Given the description of an element on the screen output the (x, y) to click on. 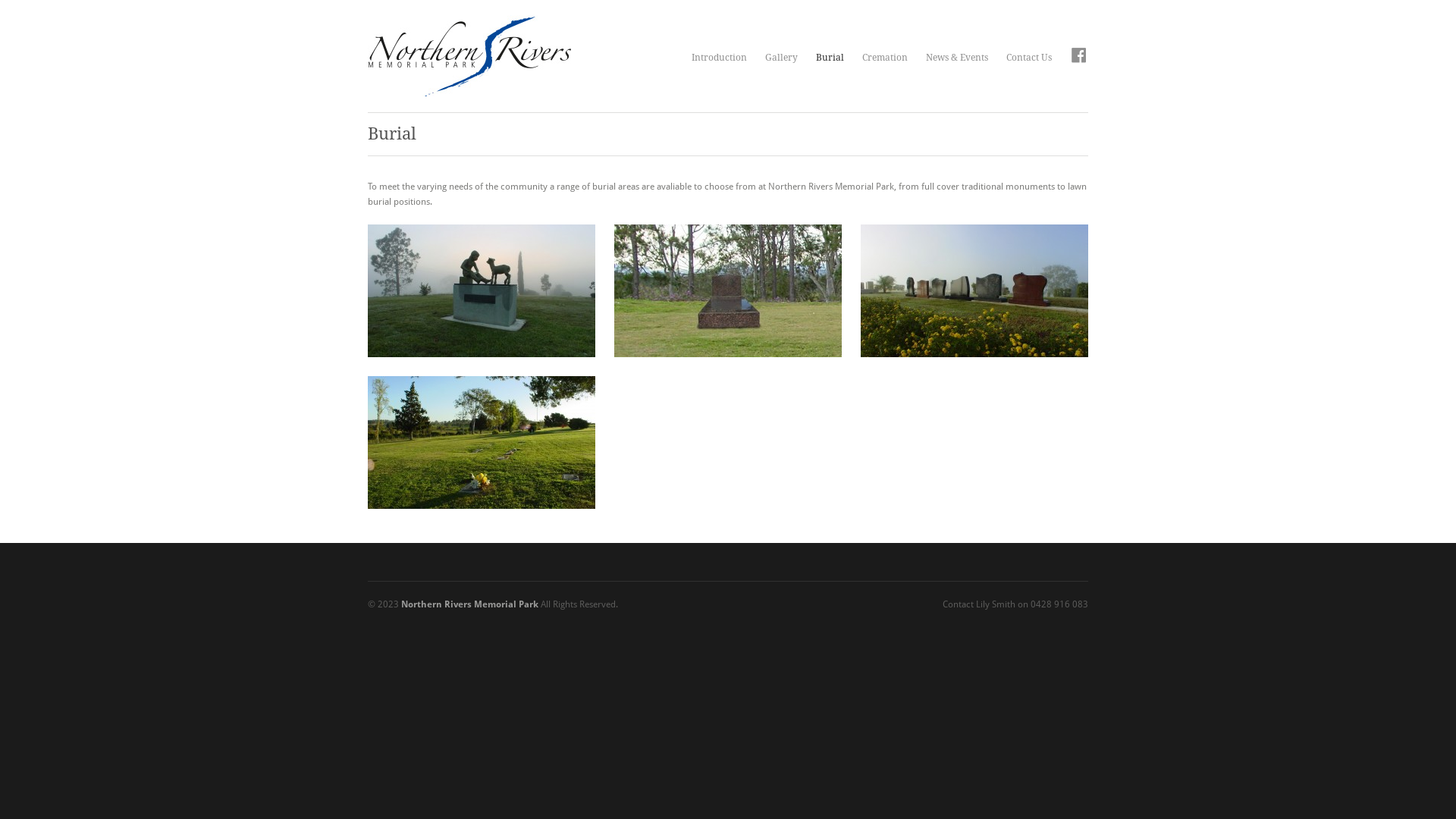
Childrens Burial Element type: hover (481, 290)
Facebook Element type: text (1079, 57)
News & Events Element type: text (956, 57)
Lawn Burial Element type: hover (481, 442)
Northern Rivers Memorial Park Element type: text (469, 604)
Burial Element type: text (829, 57)
Cremation Element type: text (884, 57)
Traditional Monuments Element type: hover (727, 290)
Introduction Element type: text (718, 57)
Gallery Element type: text (781, 57)
Headstone & Base Element type: hover (974, 290)
Contact Us Element type: text (1028, 57)
